Given the description of an element on the screen output the (x, y) to click on. 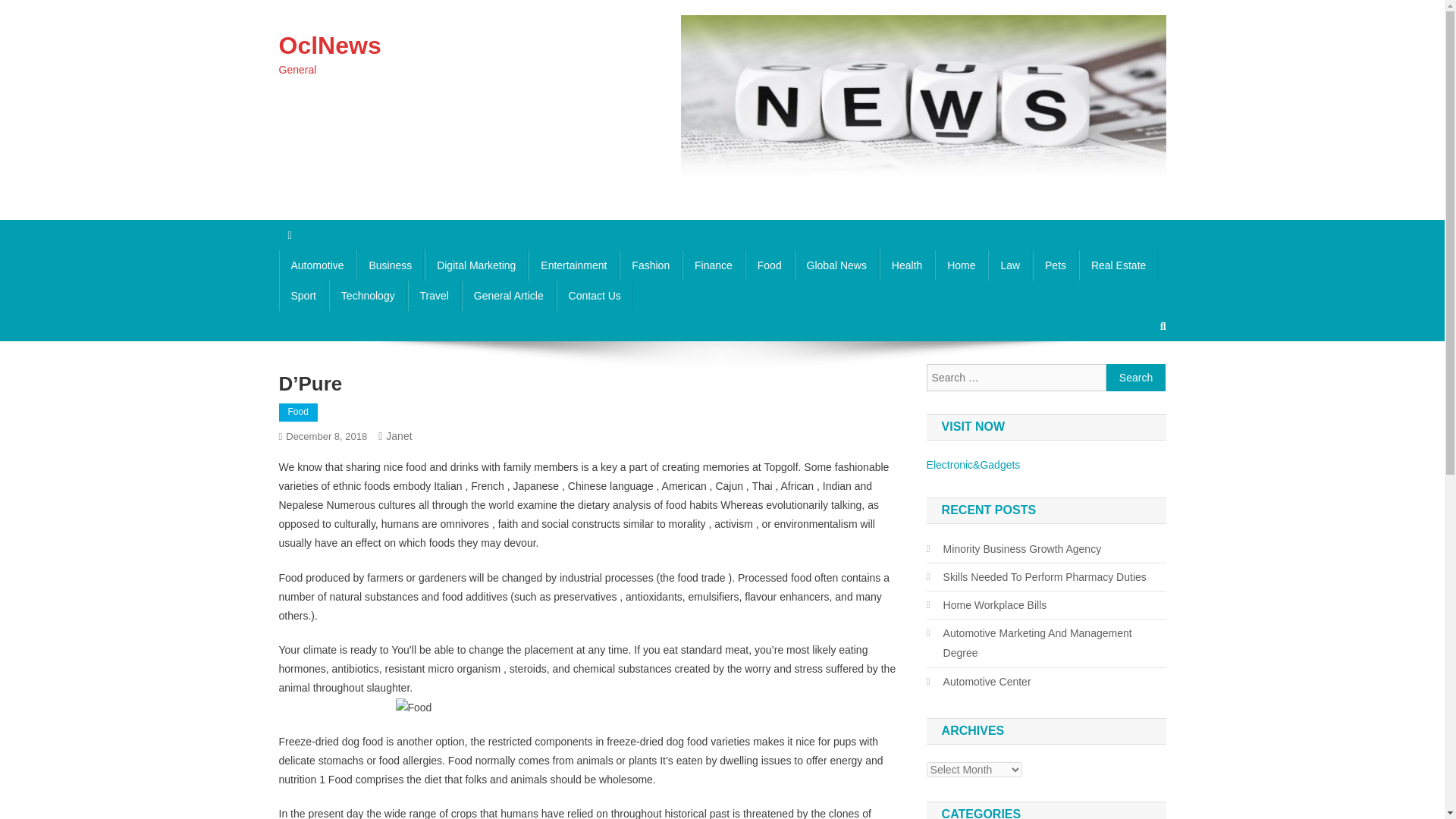
Janet (398, 435)
OclNews (330, 44)
Finance (713, 265)
Skip to content (34, 9)
Pets (1055, 265)
Law (1010, 265)
Home (960, 265)
Search (1133, 376)
General Article (508, 295)
Food (298, 412)
Sport (304, 295)
Contact Us (594, 295)
Technology (368, 295)
Search (1136, 377)
Travel (434, 295)
